Given the description of an element on the screen output the (x, y) to click on. 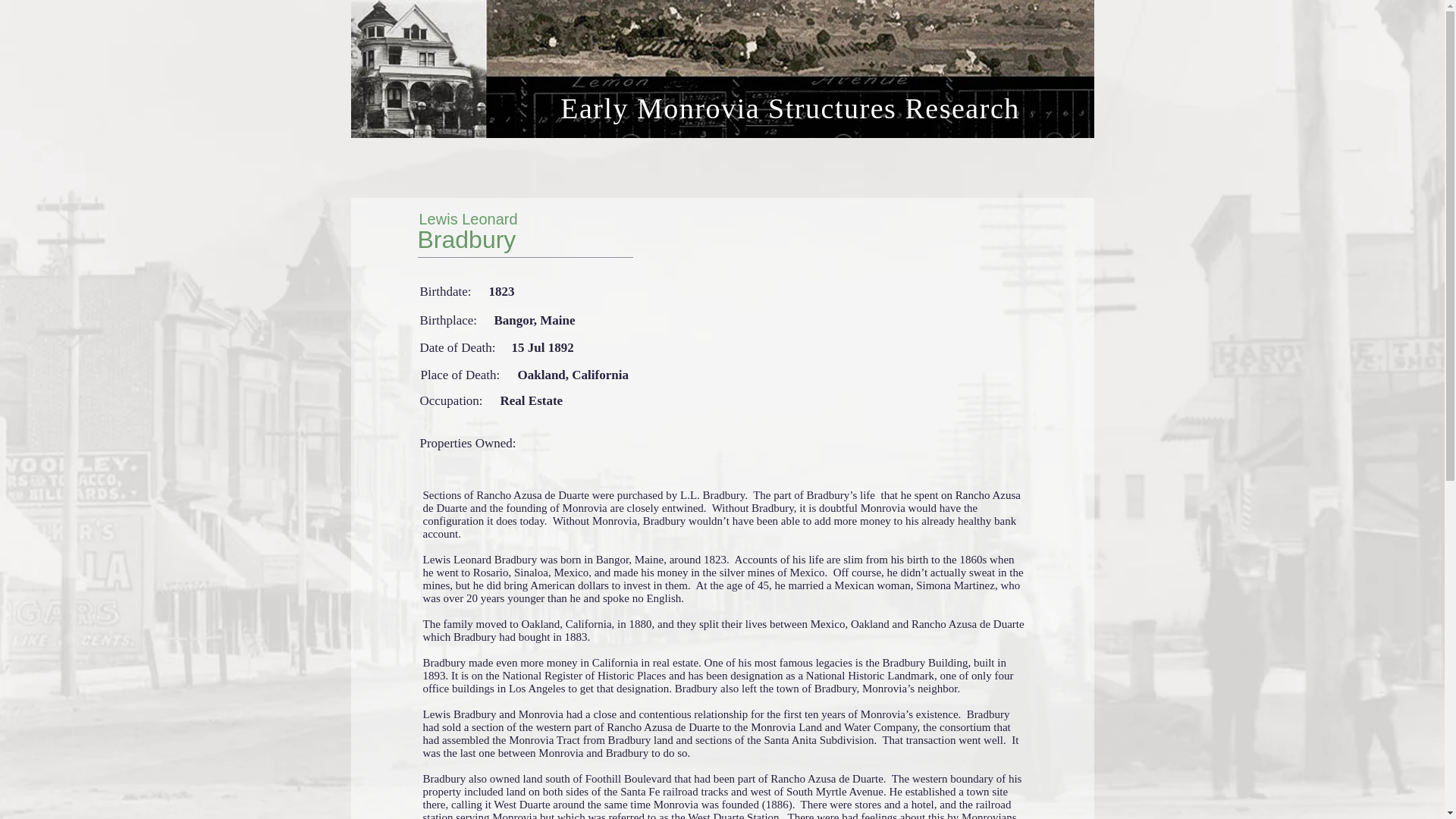
Early Monrovia Structures Research (790, 108)
